Given the description of an element on the screen output the (x, y) to click on. 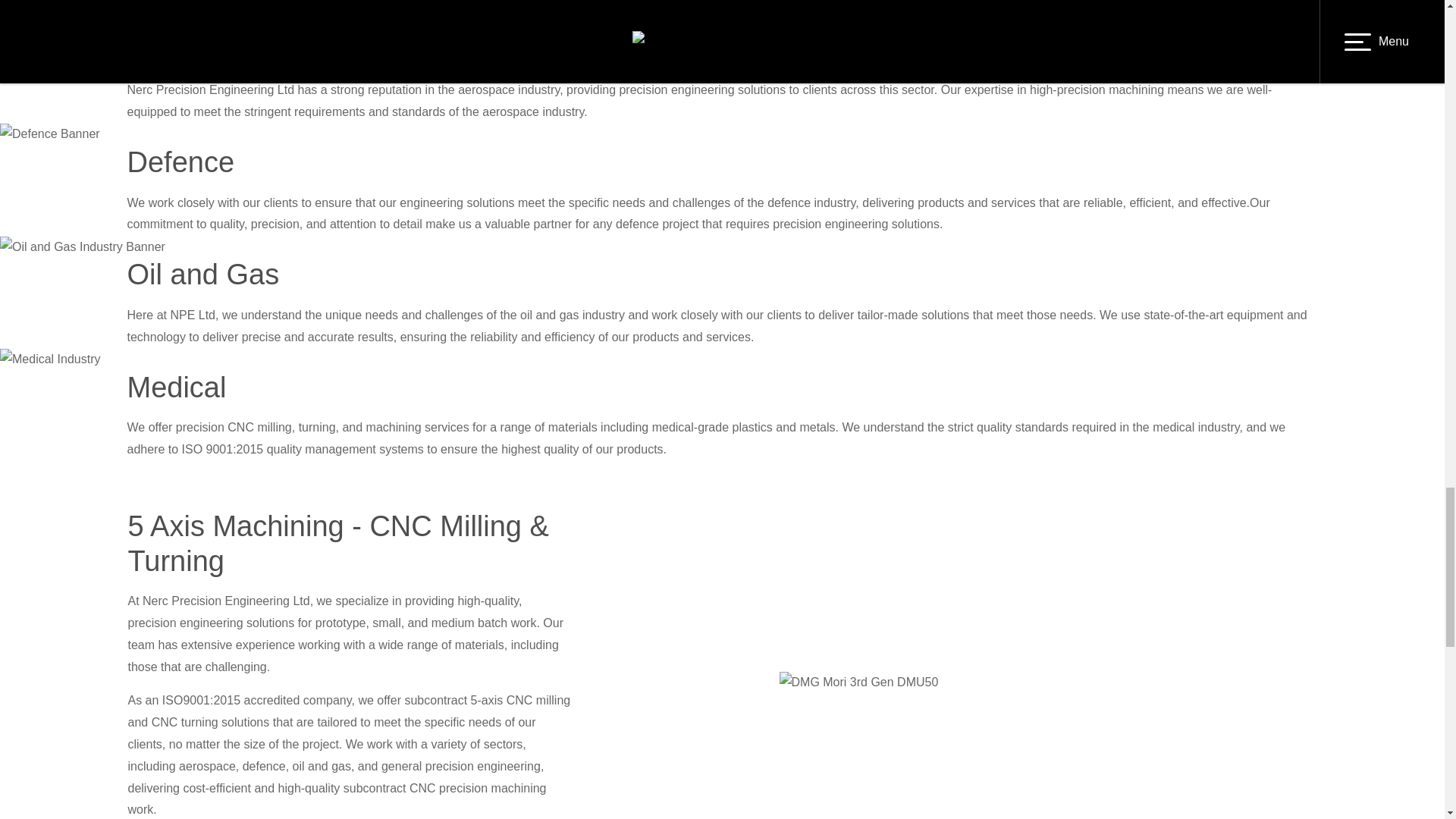
Defence Banner (50, 134)
Oil and Gas Industry Banner (82, 247)
Aerospace Industry (58, 22)
Medical Industry (50, 359)
DMG Mori 3rd Gen DMU50 (858, 682)
